Given the description of an element on the screen output the (x, y) to click on. 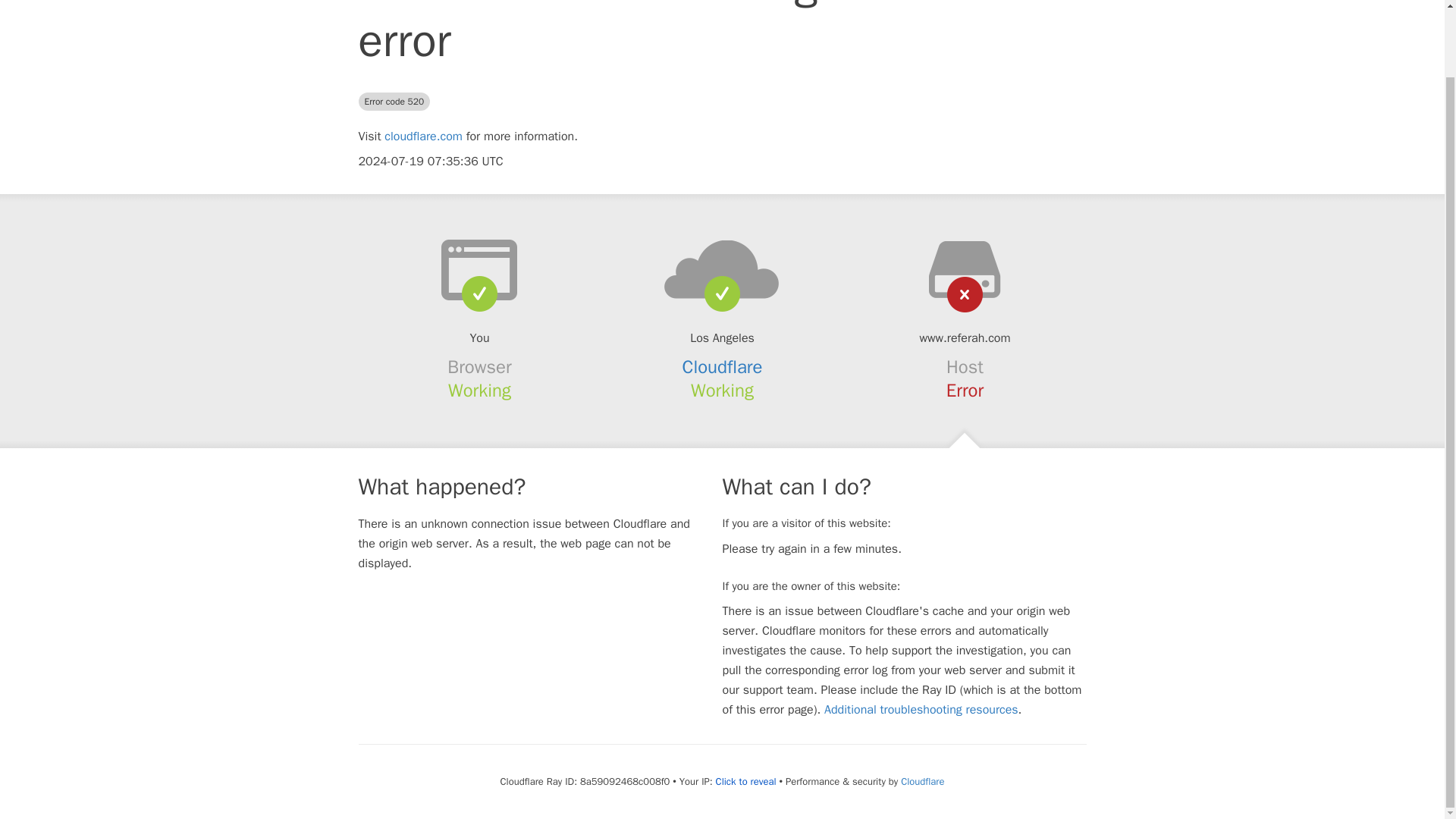
Additional troubleshooting resources (920, 709)
cloudflare.com (423, 136)
Cloudflare (722, 366)
Click to reveal (746, 781)
Cloudflare (922, 780)
